Given the description of an element on the screen output the (x, y) to click on. 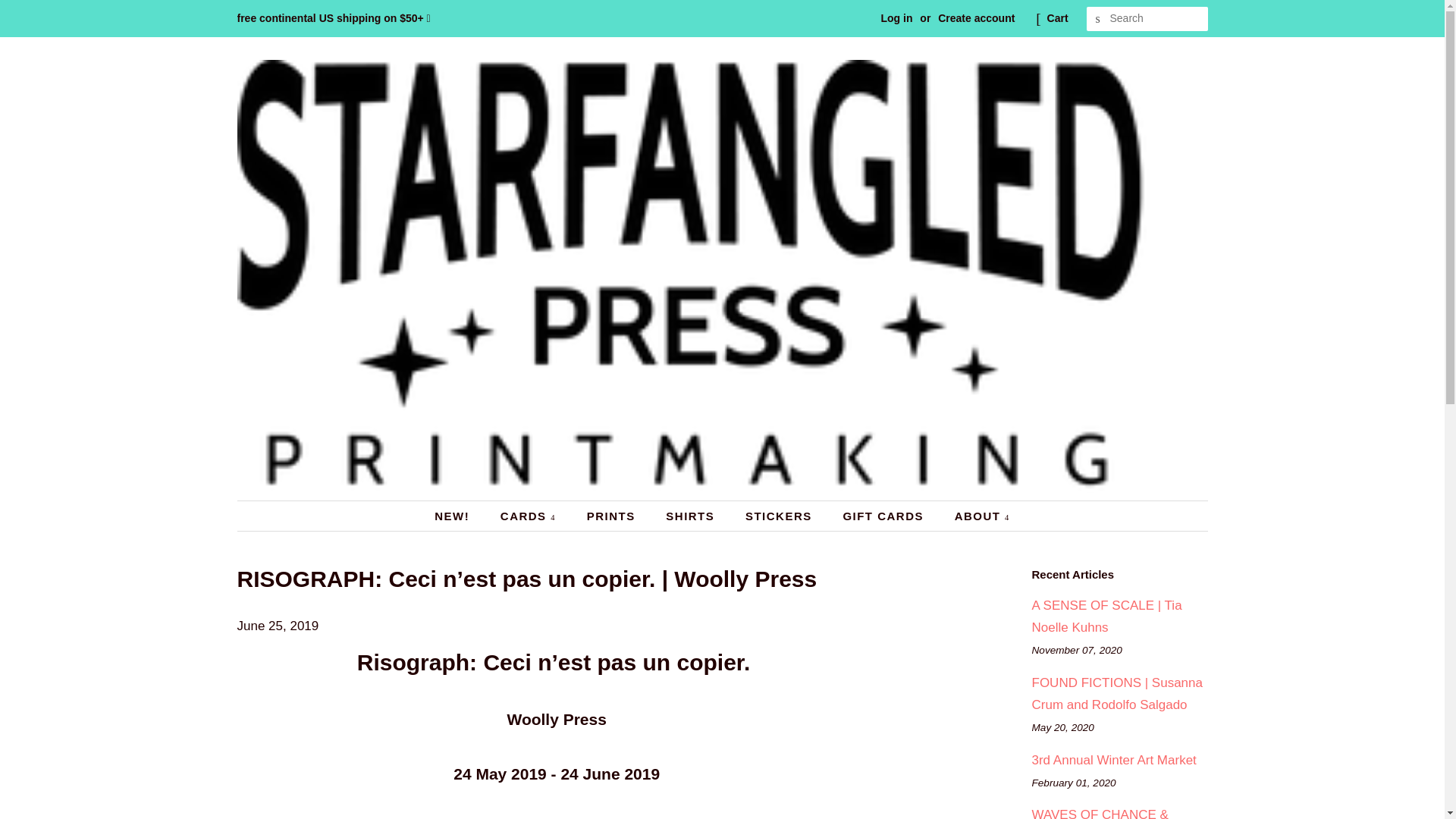
NEW! (458, 516)
Cart (1057, 18)
Log in (896, 18)
CARDS (529, 516)
Create account (975, 18)
SEARCH (1097, 18)
